Given the description of an element on the screen output the (x, y) to click on. 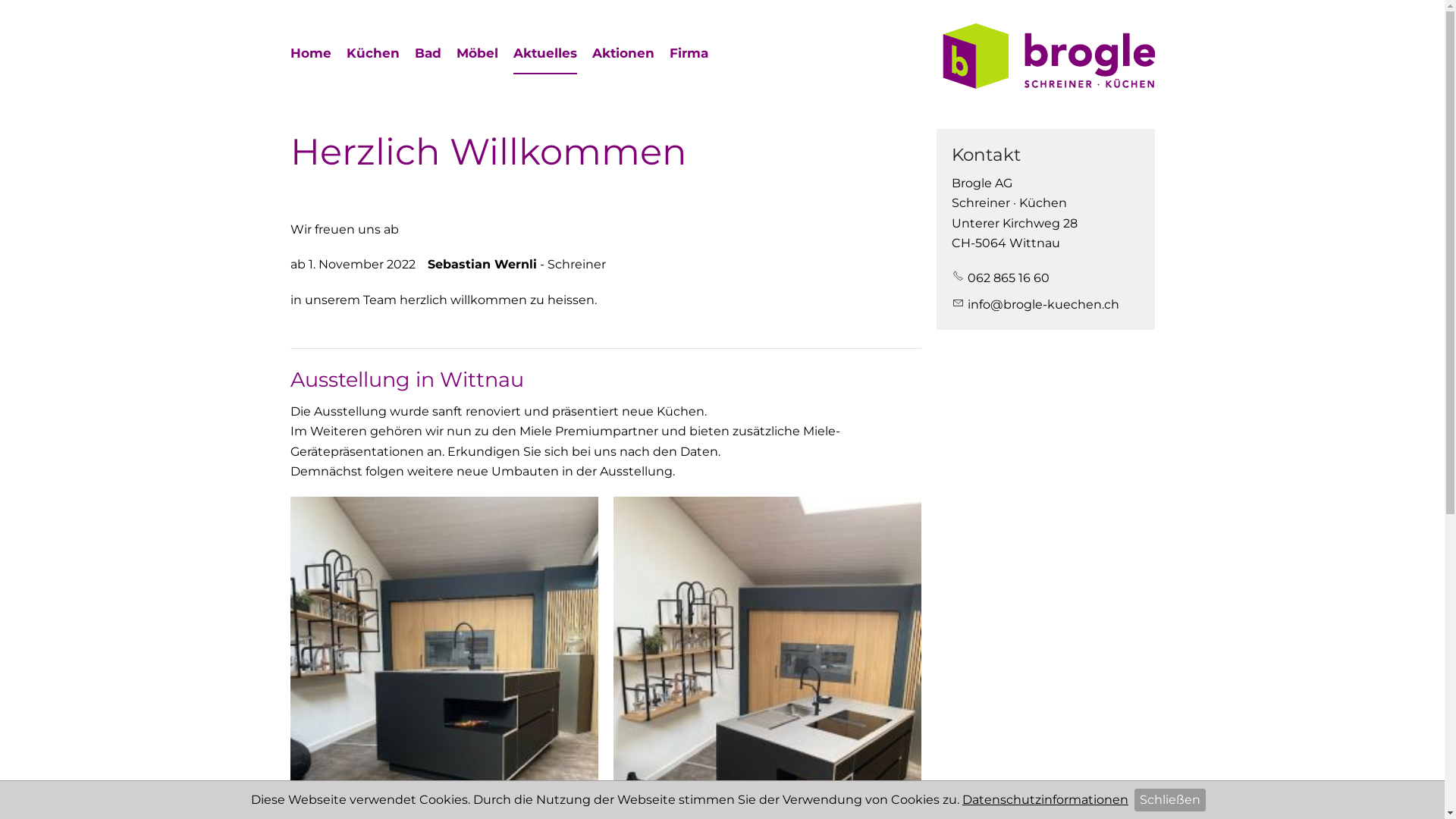
Zur Startseite Element type: hover (1047, 55)
Home Element type: text (309, 53)
062 865 16 60 Element type: text (1000, 277)
nfbrgl-kchnch Element type: text (1035, 304)
Datenschutzinformationen Element type: text (1045, 799)
Firma Element type: text (687, 53)
Aktuelles Element type: text (544, 54)
Bad Element type: text (427, 53)
Aktionen Element type: text (622, 53)
